Given the description of an element on the screen output the (x, y) to click on. 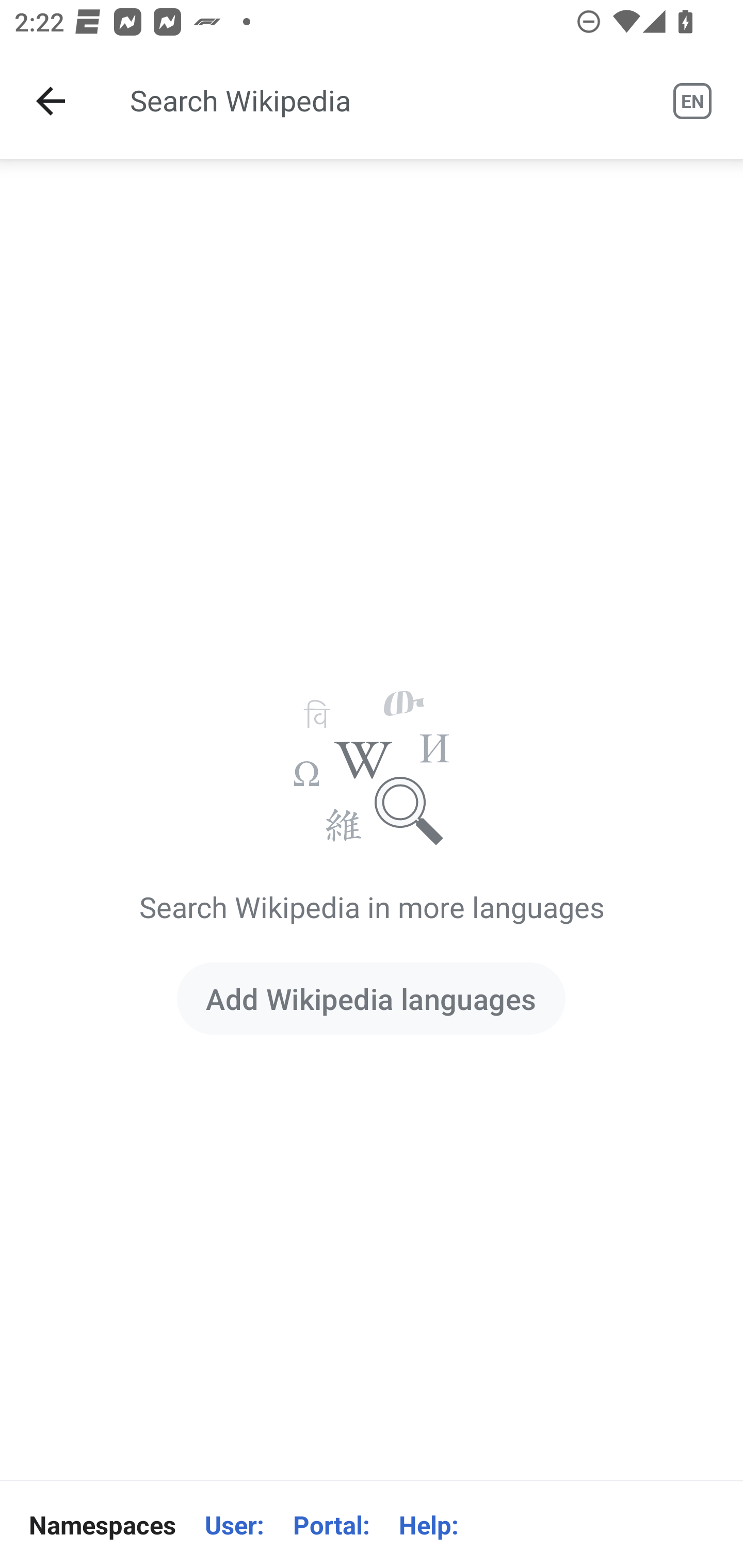
Navigate up (50, 101)
Search Wikipedia (372, 100)
Wikipedia languages EN (692, 100)
Add Wikipedia languages (370, 997)
Namespaces (102, 1524)
User: (234, 1524)
Portal: (331, 1524)
Help: (428, 1524)
